Given the description of an element on the screen output the (x, y) to click on. 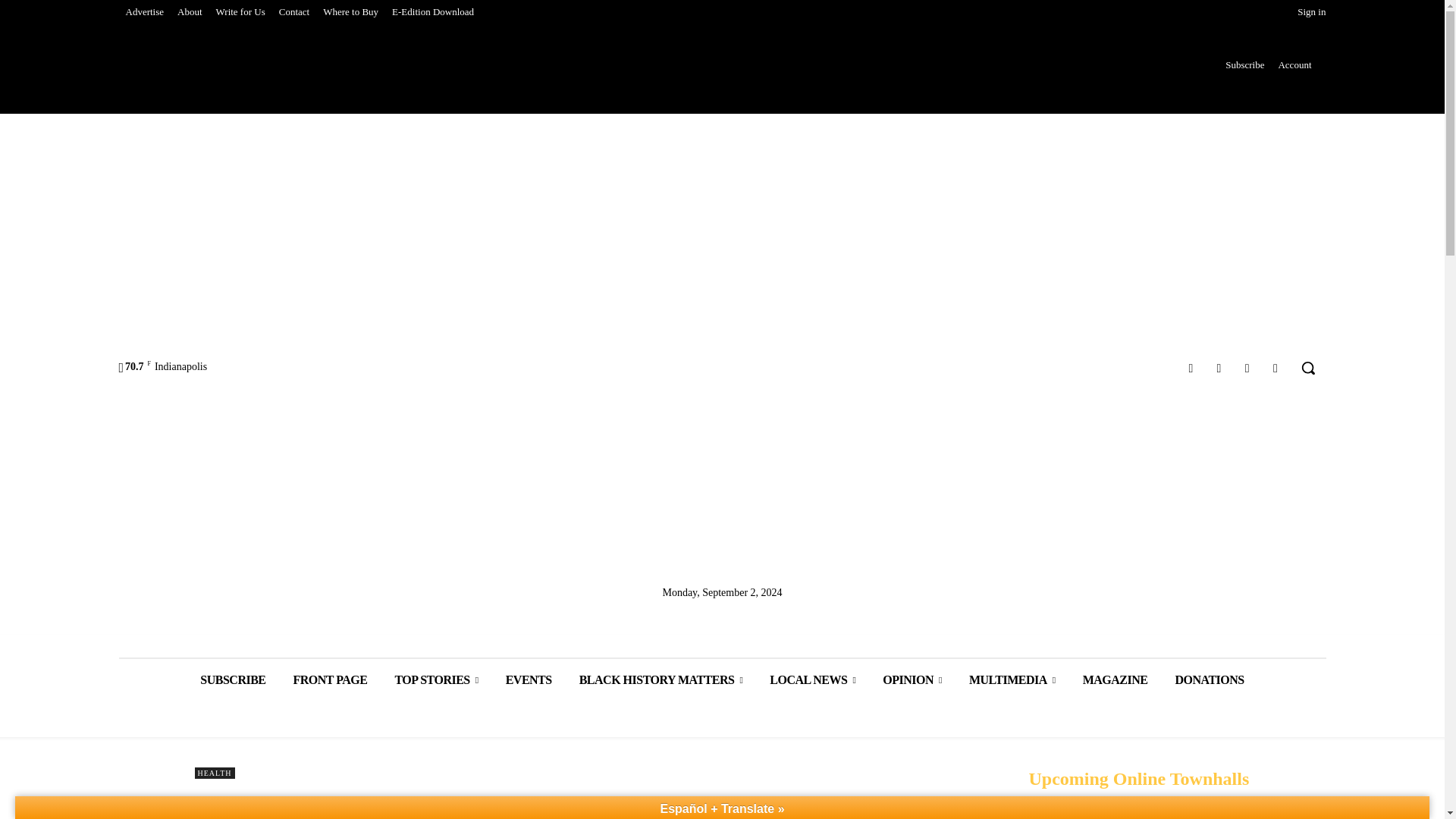
Facebook (1190, 367)
Youtube (1275, 367)
Instagram (1218, 367)
Twitter (1246, 367)
Advertise (143, 12)
